Given the description of an element on the screen output the (x, y) to click on. 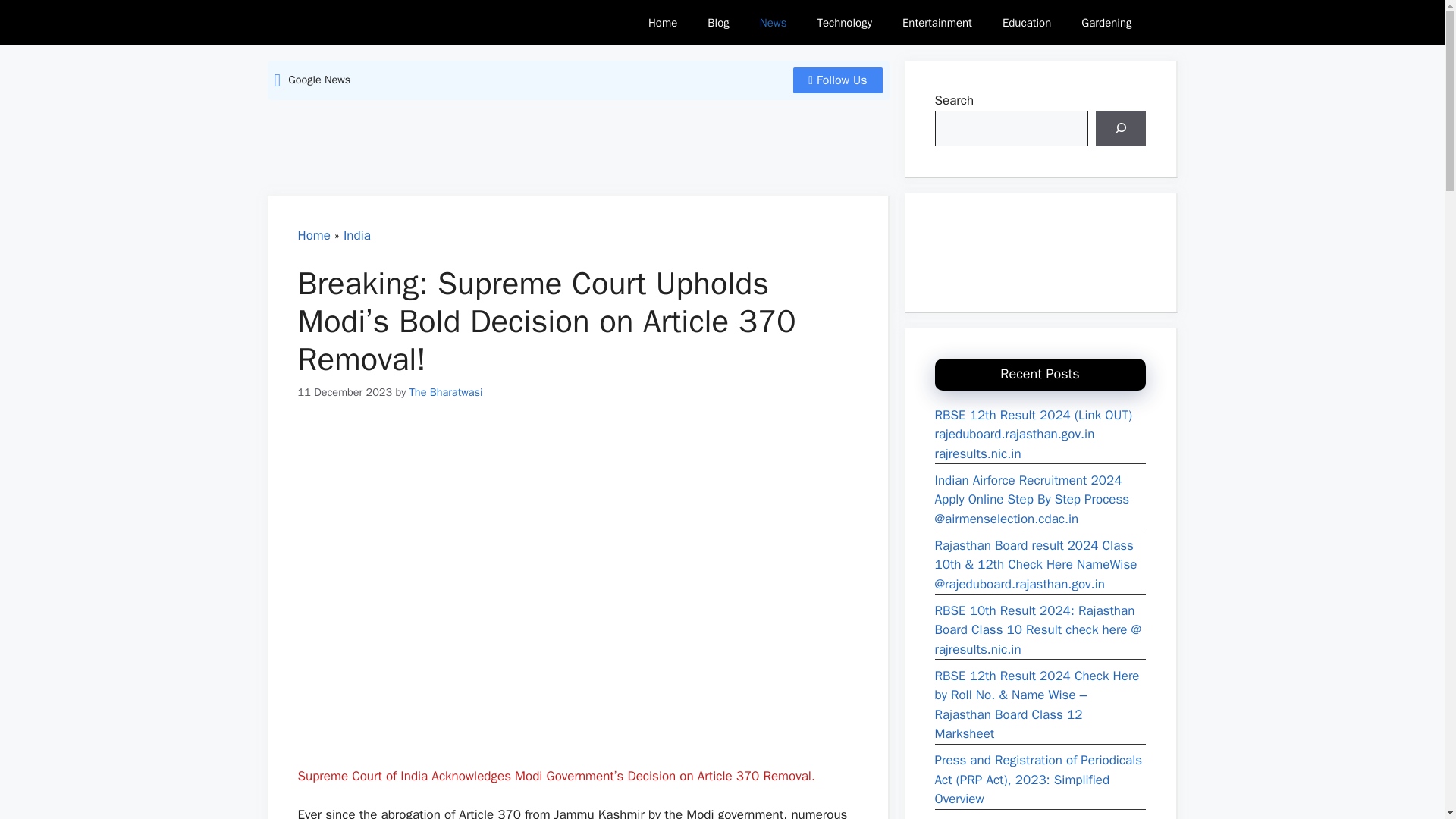
Follow Us (837, 80)
India (357, 235)
Education (1026, 22)
Entertainment (936, 22)
Gardening (1106, 22)
The Bharatwasi (345, 22)
View all posts by The Bharatwasi (446, 391)
Technology (844, 22)
Home (313, 235)
Home (663, 22)
